Given the description of an element on the screen output the (x, y) to click on. 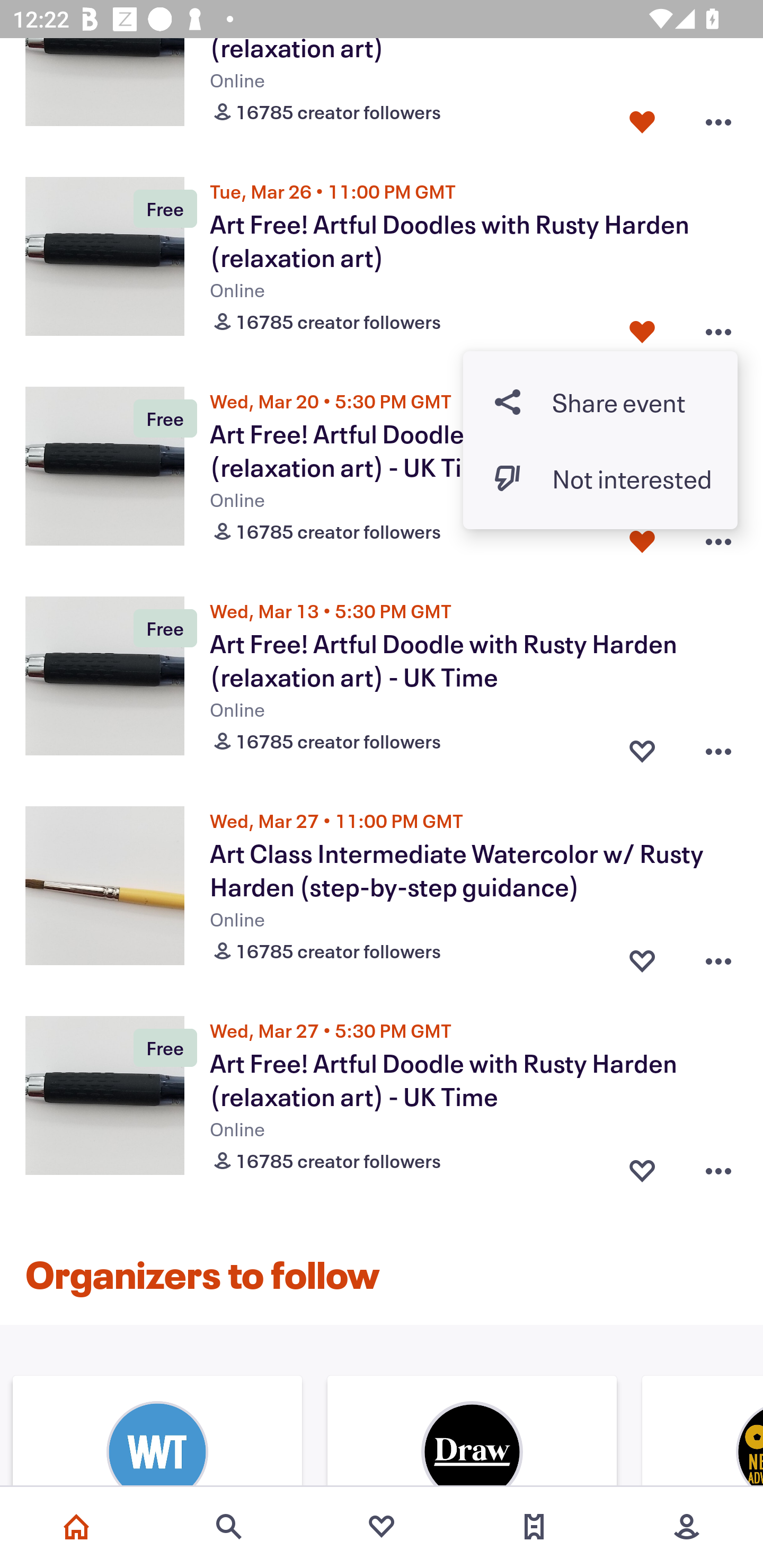
Share button Share event (600, 401)
Dislike event button Not interested (600, 477)
